Given the description of an element on the screen output the (x, y) to click on. 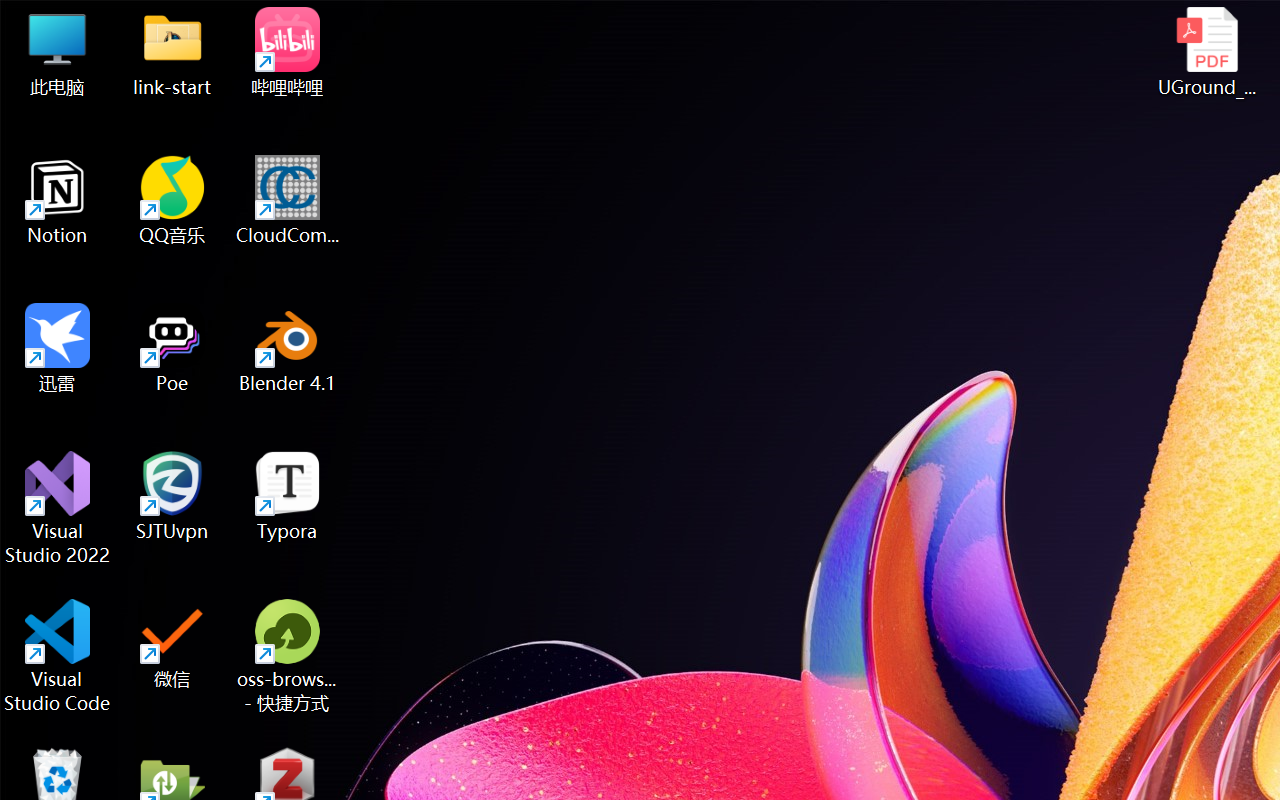
Visual Studio Code (57, 656)
SJTUvpn (172, 496)
Blender 4.1 (287, 348)
Typora (287, 496)
Visual Studio 2022 (57, 508)
CloudCompare (287, 200)
UGround_paper.pdf (1206, 52)
